Given the description of an element on the screen output the (x, y) to click on. 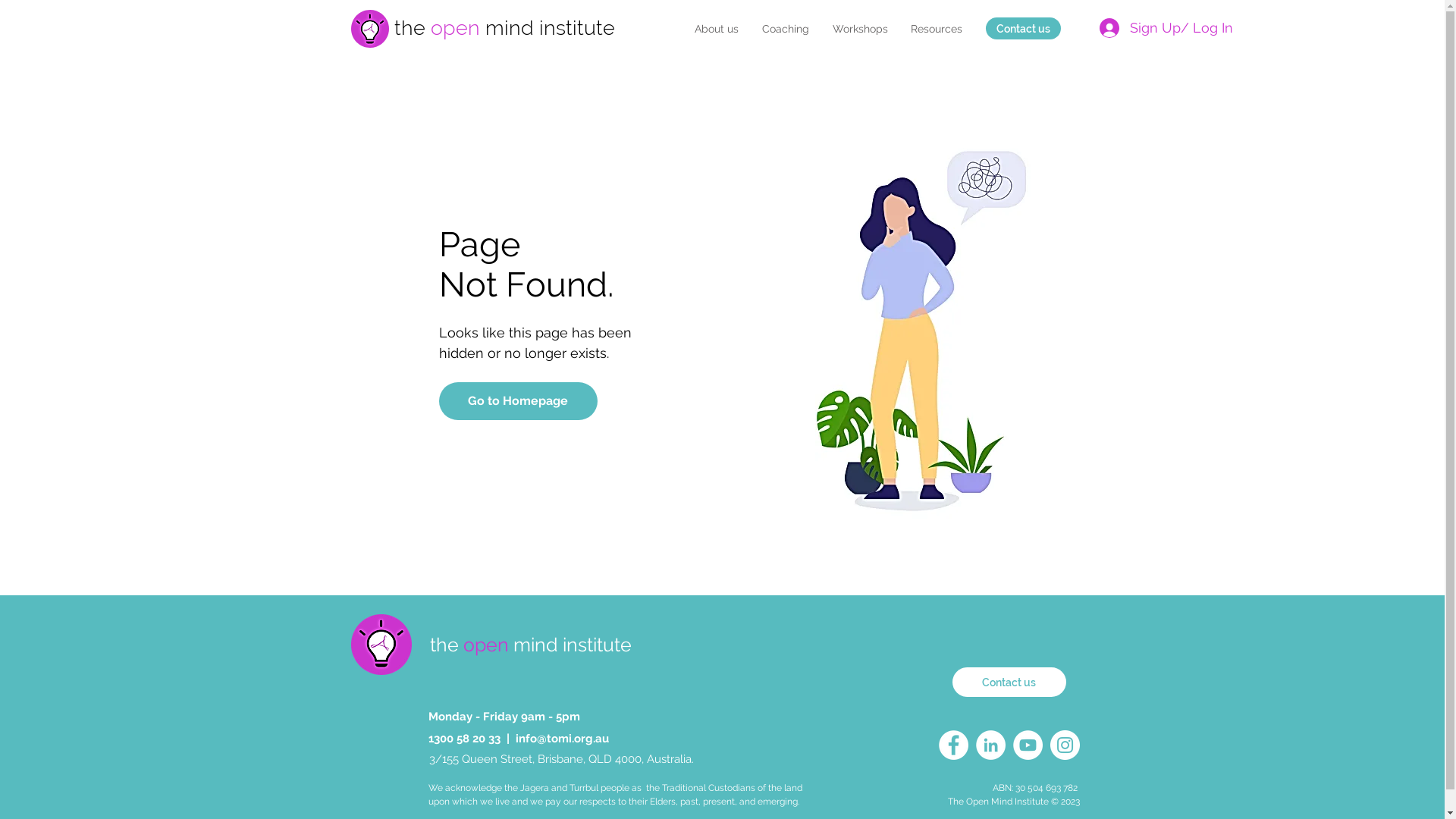
About us Element type: text (715, 28)
the open mind institute Element type: text (530, 644)
Contact us Element type: text (1022, 28)
info@tomi.org.au Element type: text (561, 737)
Go to Homepage Element type: text (517, 401)
Sign Up/ Log In Element type: text (1161, 27)
Contact us Element type: text (1009, 681)
the open mind institute Element type: text (504, 27)
